Given the description of an element on the screen output the (x, y) to click on. 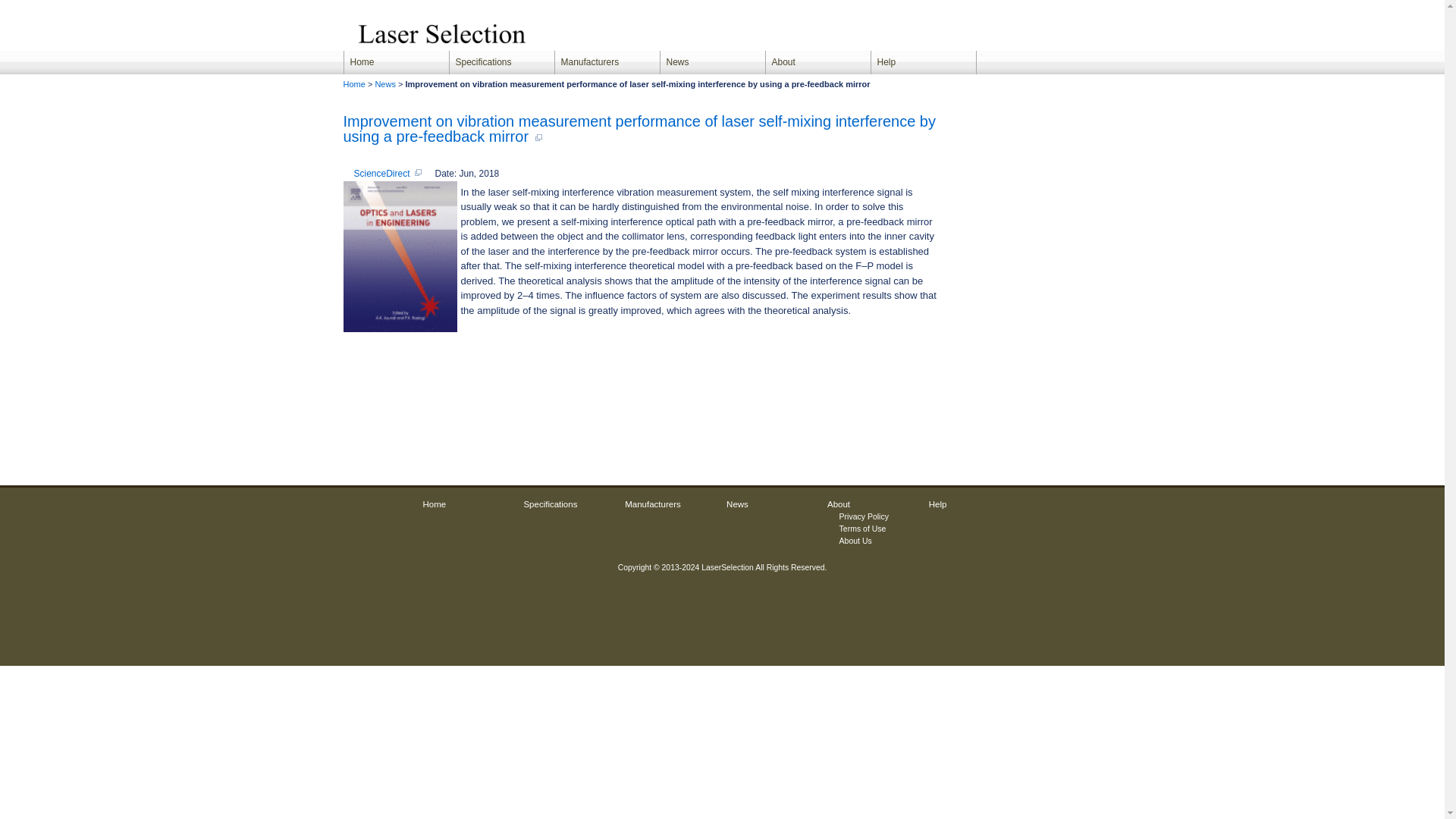
News (385, 83)
Manufacturers (652, 503)
Terms of Use (863, 528)
News (712, 62)
About (838, 503)
Specifications (549, 503)
ScienceDirect (386, 173)
Manufacturers (607, 62)
Home (395, 62)
Specifications (501, 62)
News (737, 503)
Help (922, 62)
Home (434, 503)
Home (353, 83)
